Given the description of an element on the screen output the (x, y) to click on. 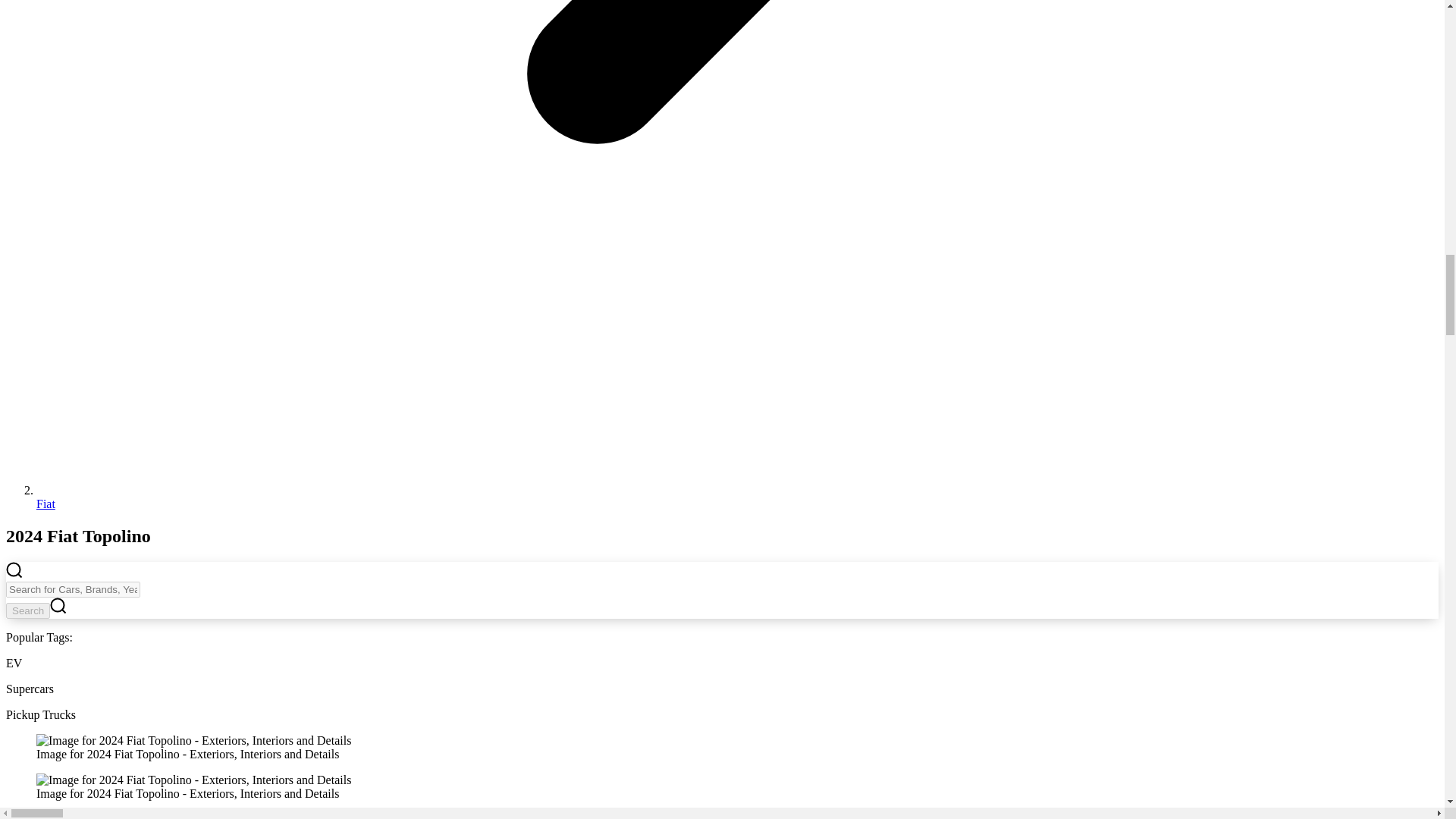
Fiat (45, 503)
Search (27, 610)
